Given the description of an element on the screen output the (x, y) to click on. 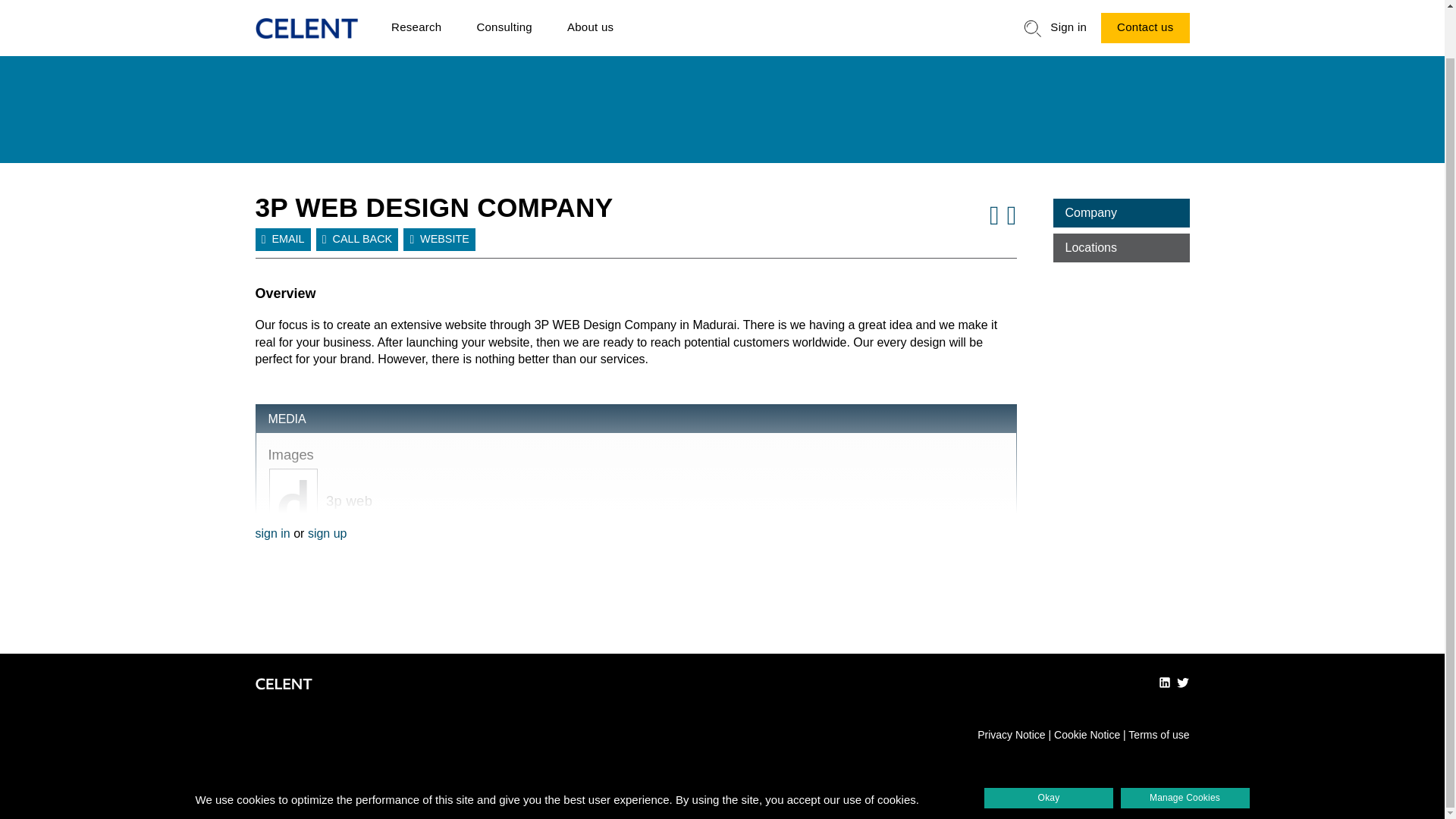
Home (306, 9)
Contact us (1144, 11)
Manage Cookies (1185, 746)
Okay (1048, 746)
Research (415, 11)
Consulting (503, 11)
Sign in (1068, 11)
search (1032, 8)
About us (590, 11)
